Given the description of an element on the screen output the (x, y) to click on. 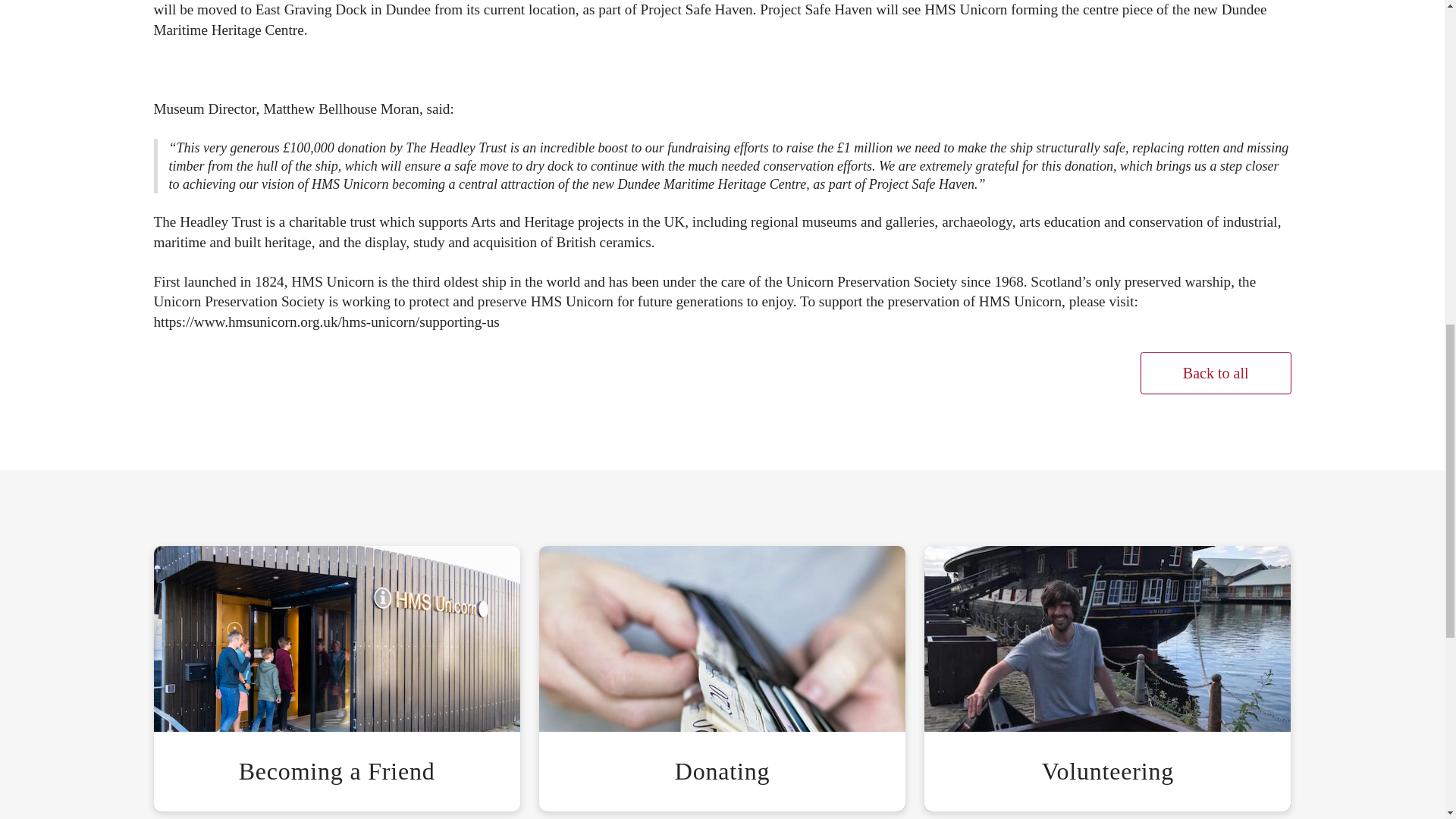
Volunteering (1107, 677)
Donating (721, 677)
Back to all (1215, 372)
Becoming a Friend (335, 677)
